Given the description of an element on the screen output the (x, y) to click on. 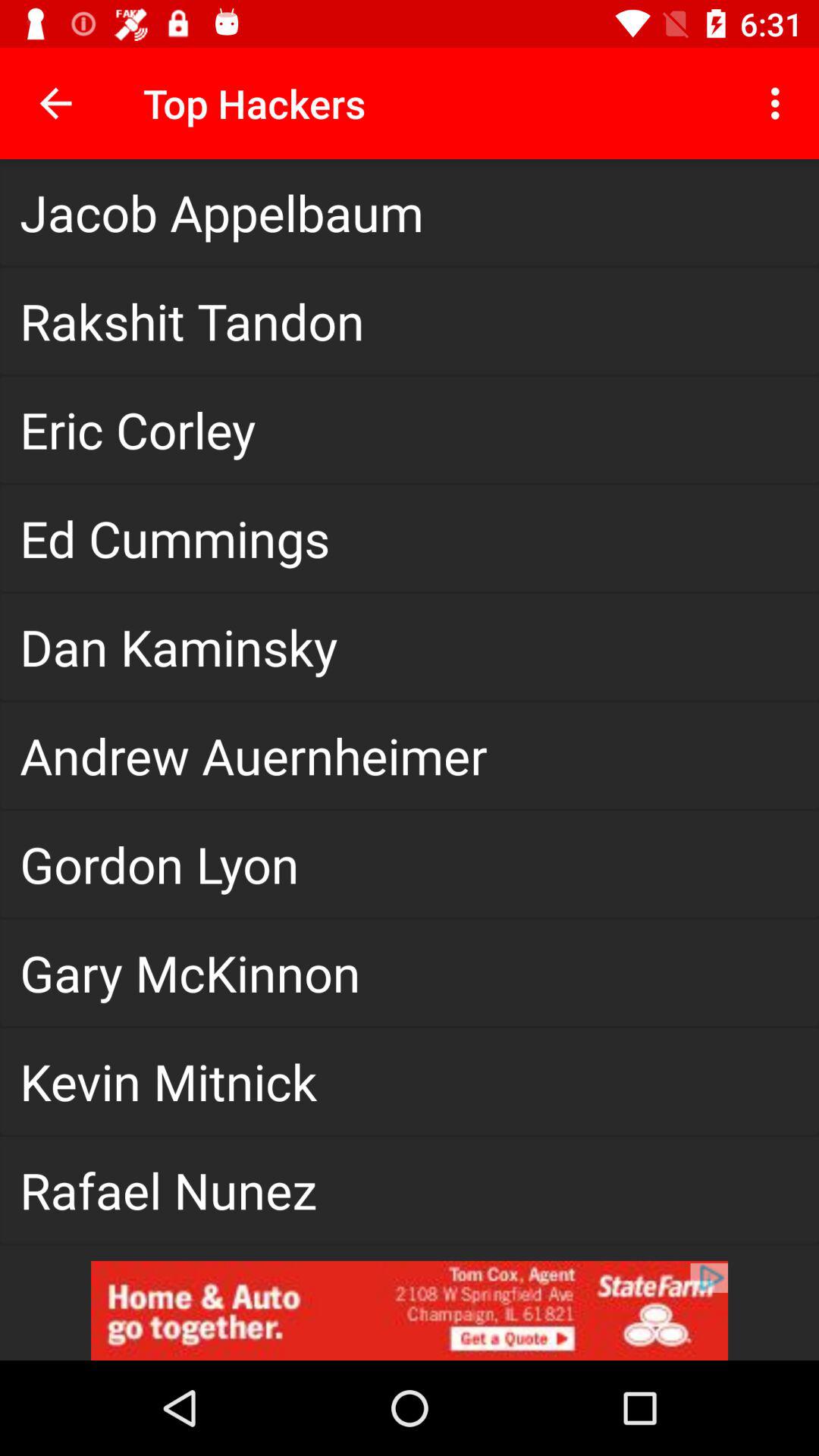
goes to state farm 's website (409, 1310)
